Given the description of an element on the screen output the (x, y) to click on. 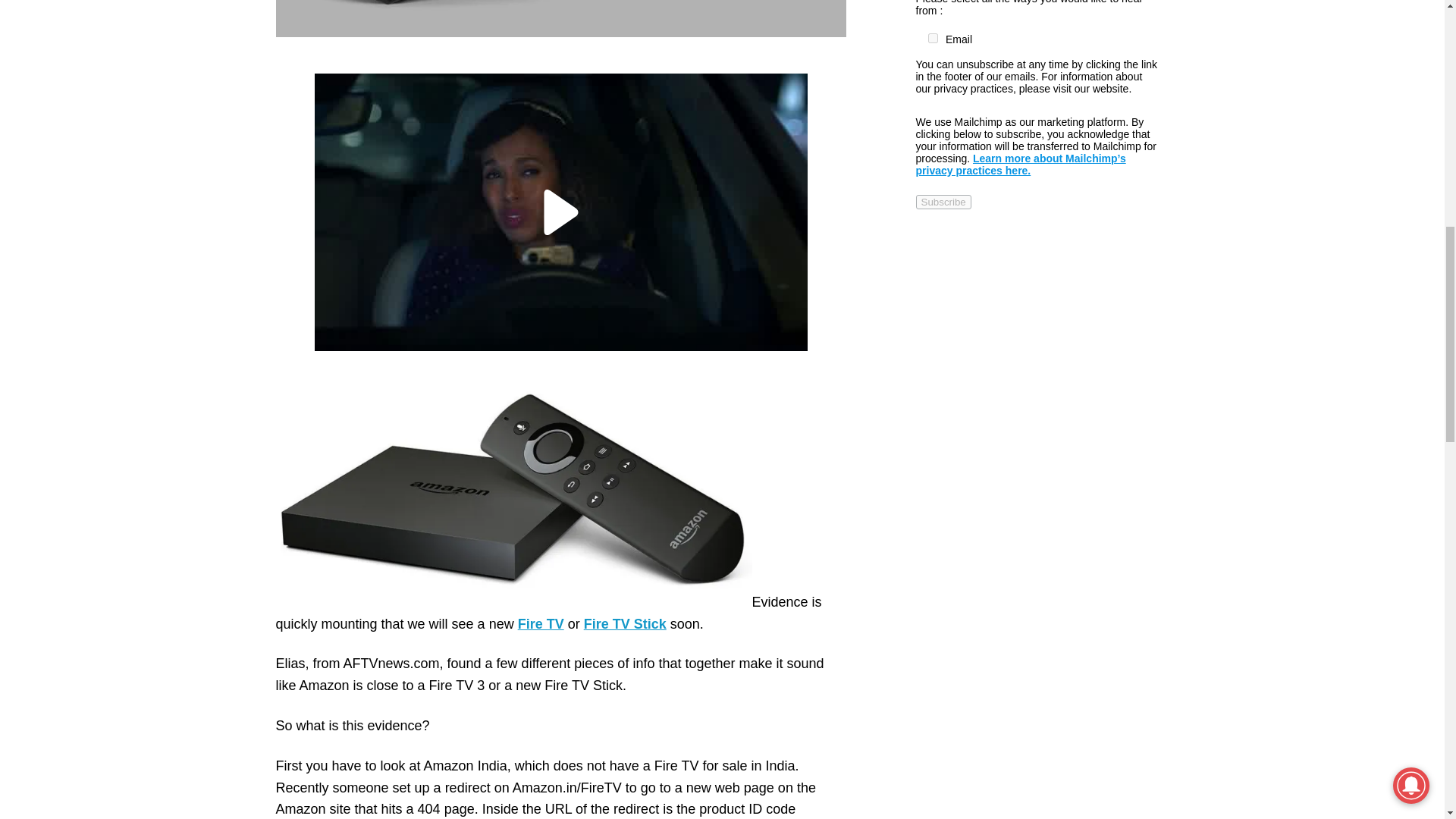
Subscribe (943, 201)
Y (932, 38)
